Given the description of an element on the screen output the (x, y) to click on. 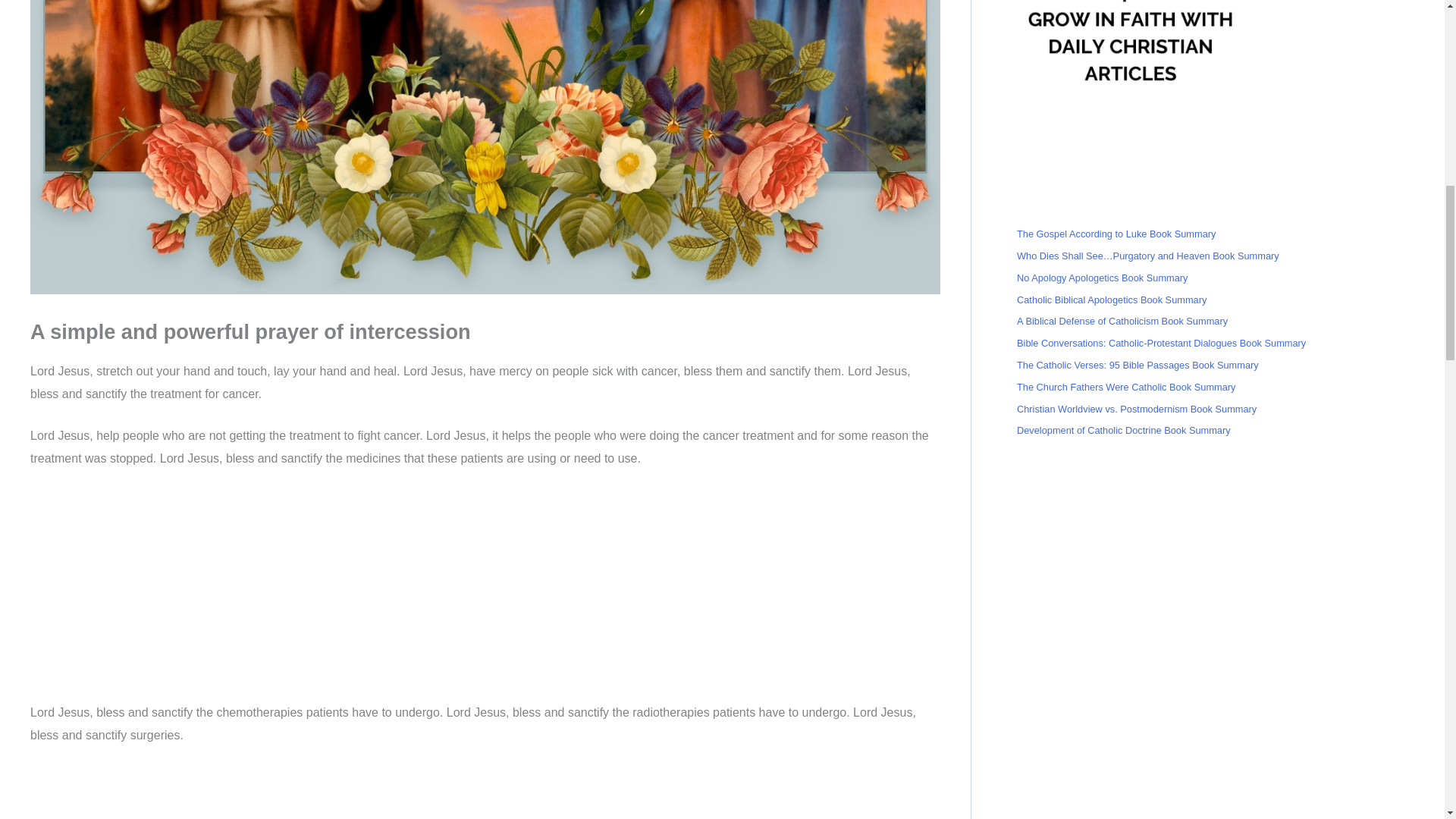
Advertisement (485, 792)
The Gospel According to Luke Book Summary (1115, 233)
